Given the description of an element on the screen output the (x, y) to click on. 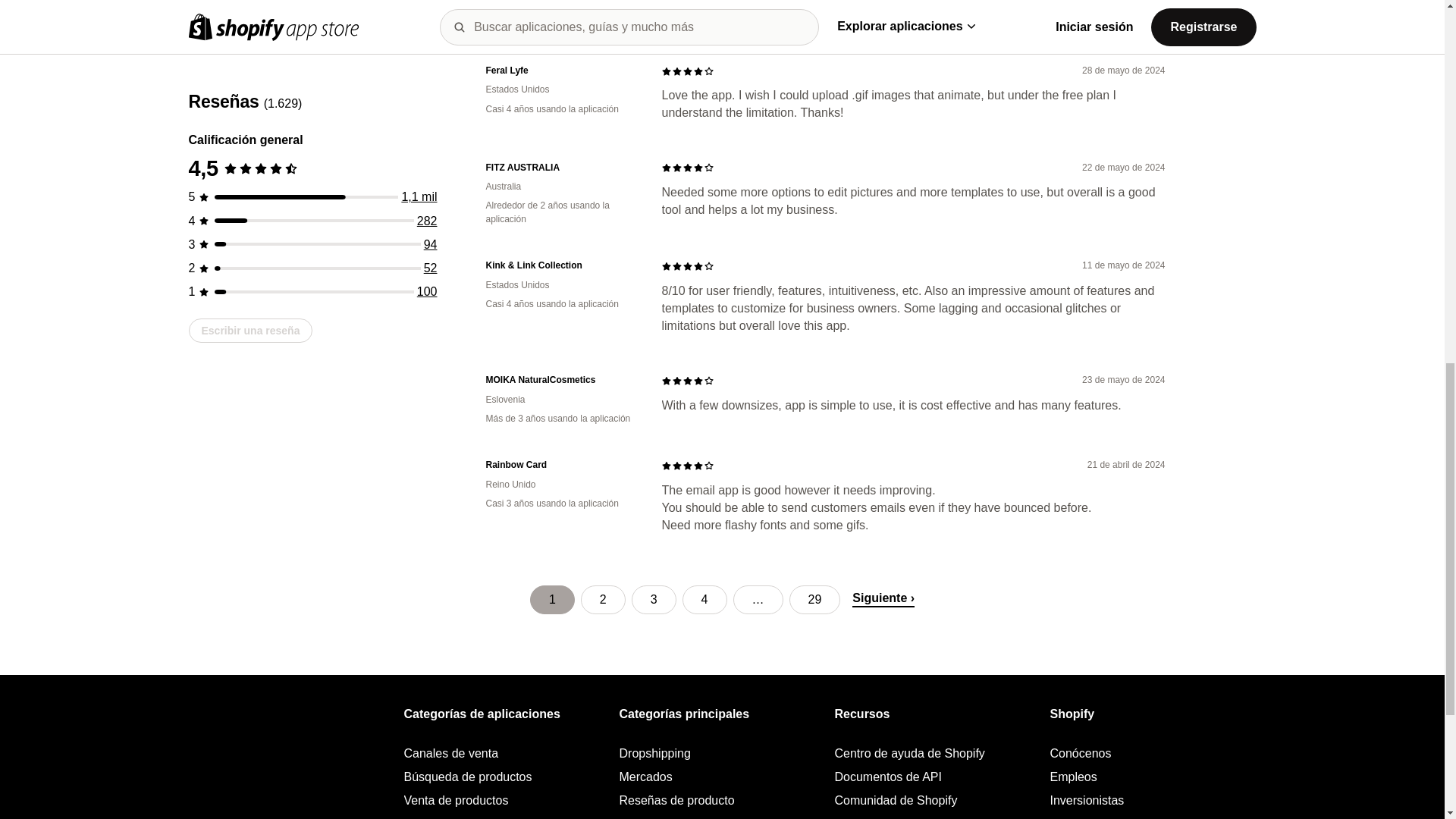
Rainbow Card (560, 464)
FITZ AUSTRALIA (560, 167)
Feral Lyfe (560, 70)
MOIKA NaturalCosmetics (560, 379)
